Given the description of an element on the screen output the (x, y) to click on. 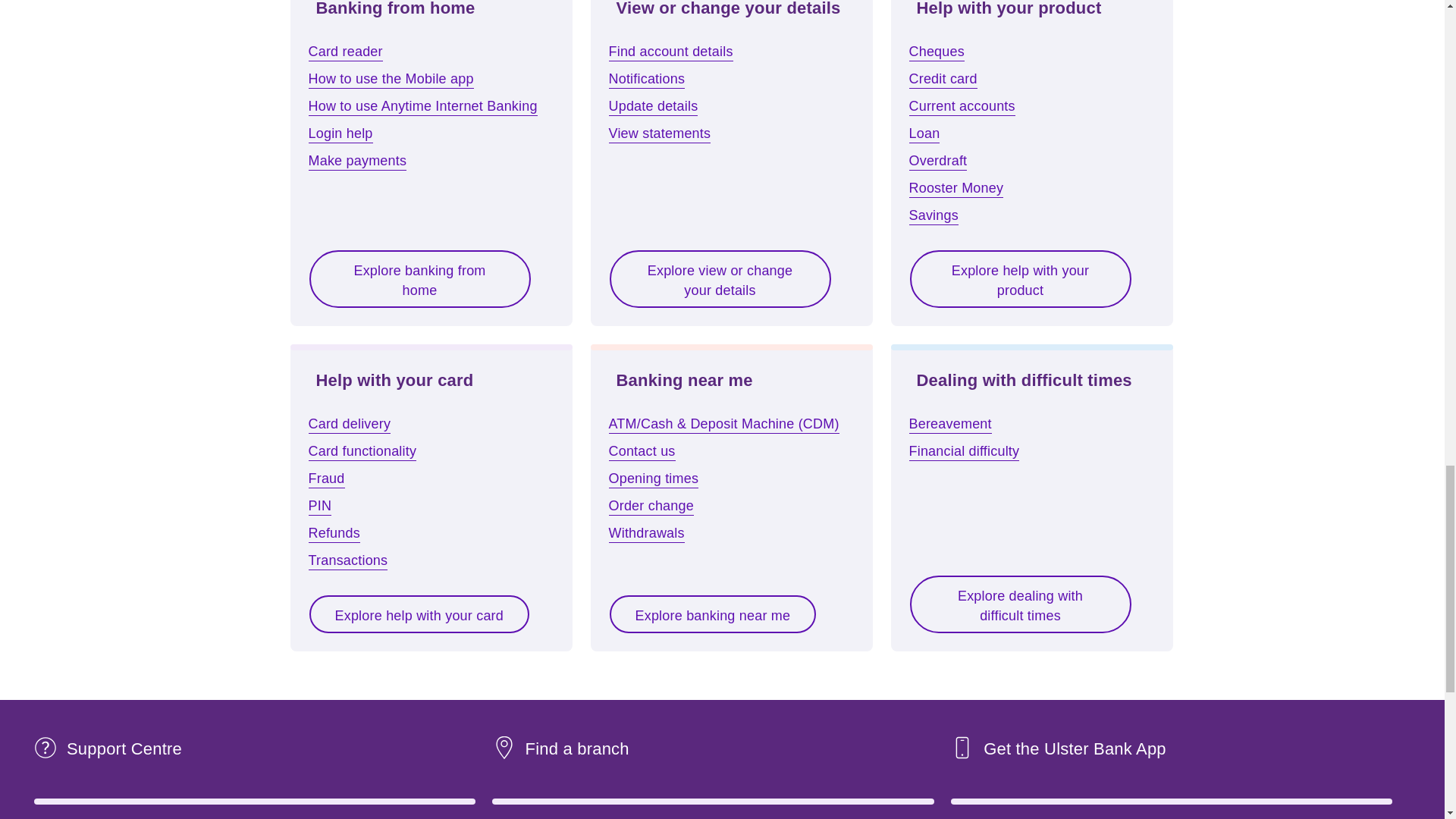
Explore view or change your details (719, 278)
Explore help with your card (418, 614)
Explore dealing with difficult times (1019, 604)
Explore banking near me (712, 614)
Explore banking from home (419, 278)
Explore help with your product (1019, 278)
